Given the description of an element on the screen output the (x, y) to click on. 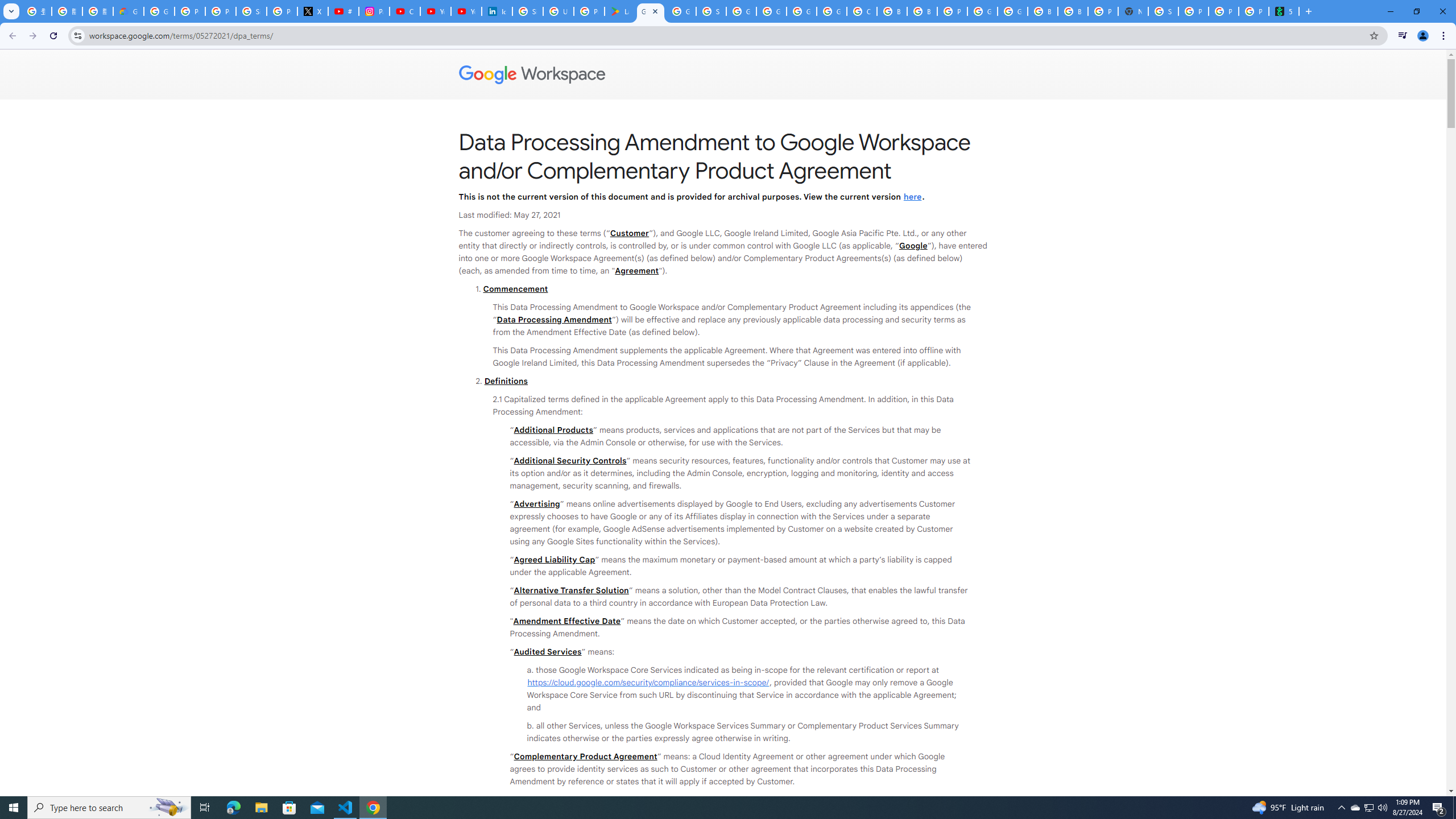
New Tab (1132, 11)
Address and search bar (725, 35)
Sign in - Google Accounts (251, 11)
Bookmark this tab (1373, 35)
New Tab (1308, 11)
here (912, 196)
Google Workspace - Specific Terms (681, 11)
Google Cloud Platform (982, 11)
